Given the description of an element on the screen output the (x, y) to click on. 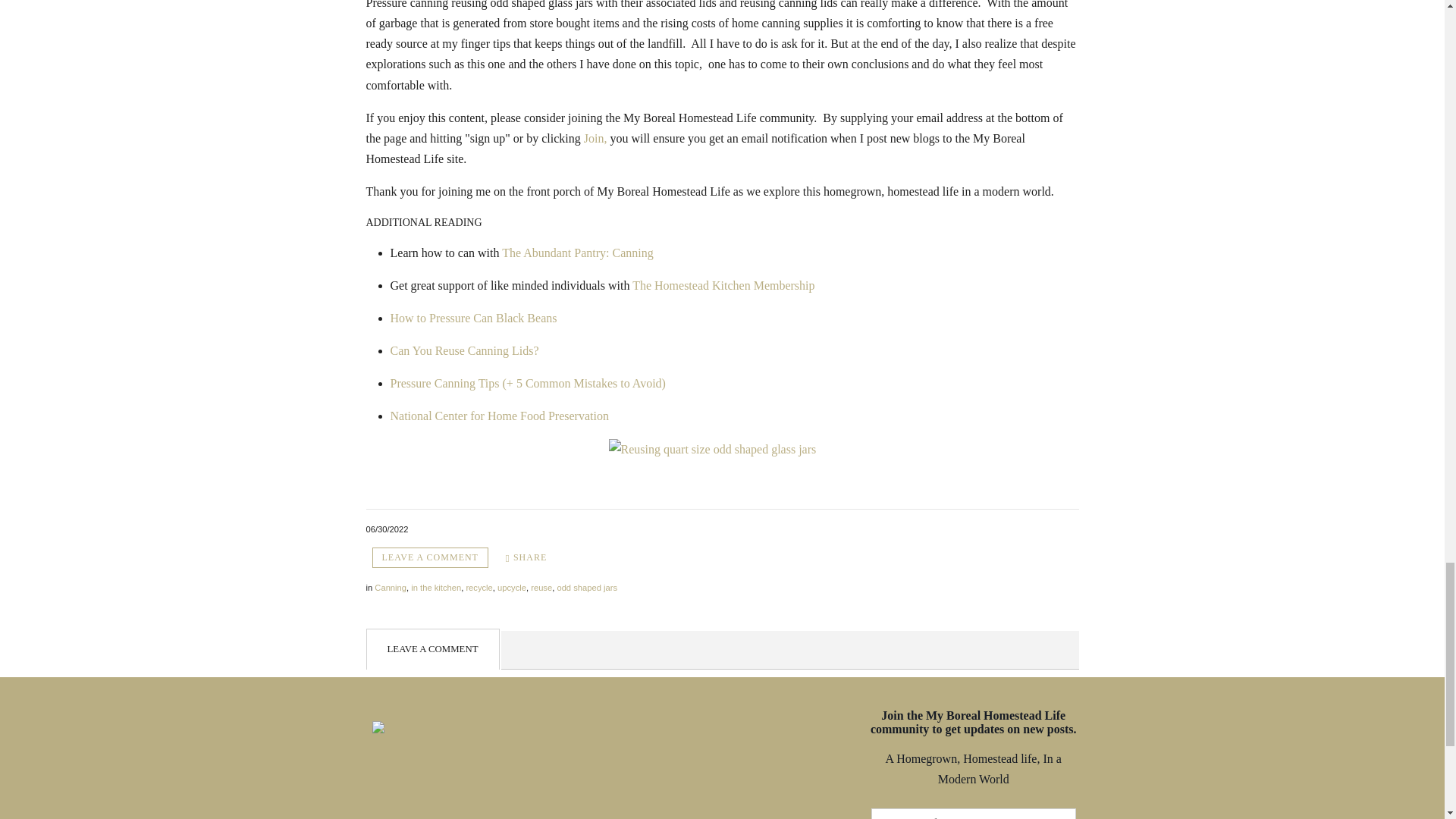
Leave a comment (429, 557)
June 30, 2022 07:47 (386, 528)
